Given the description of an element on the screen output the (x, y) to click on. 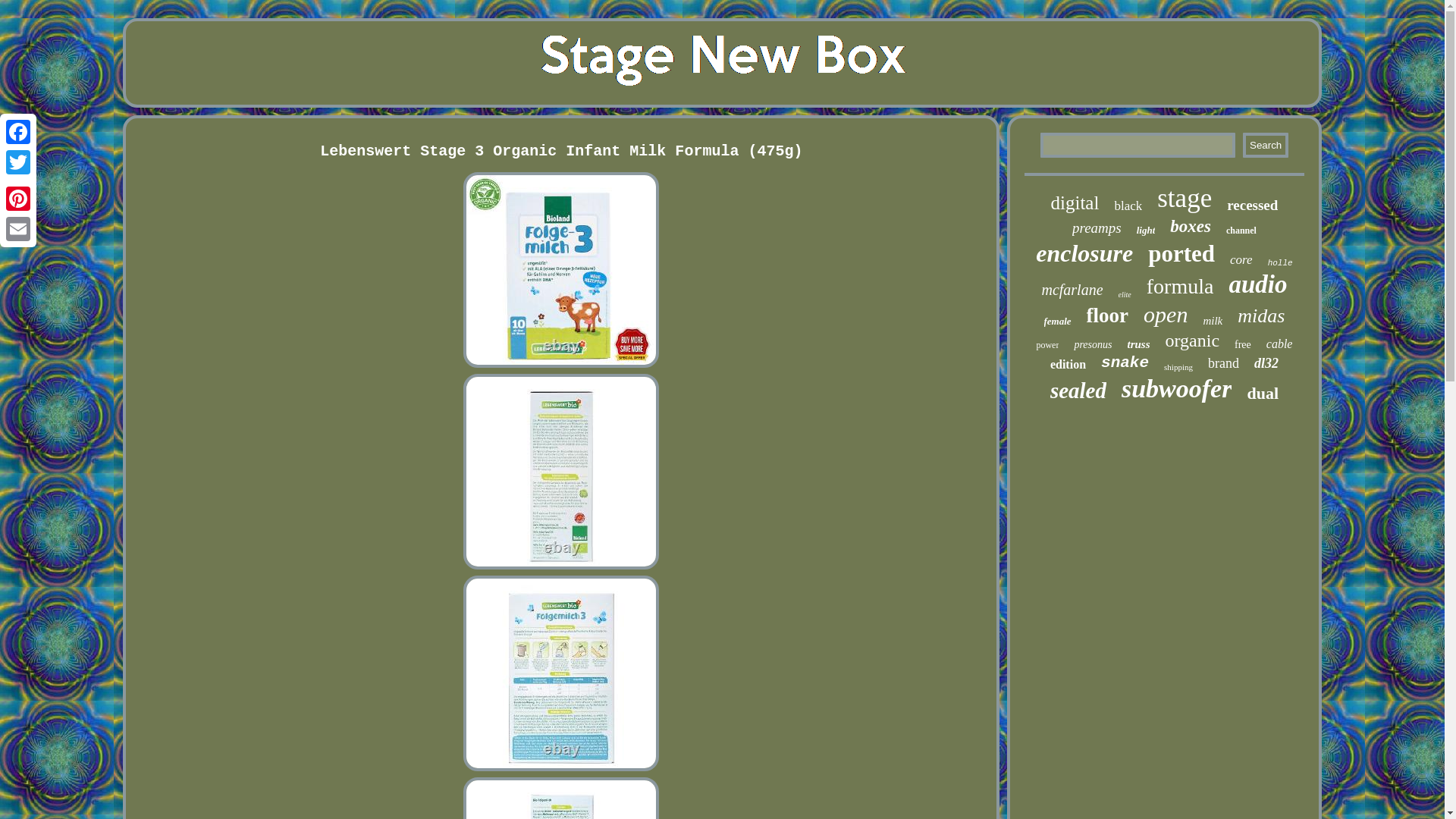
Search (1265, 145)
enclosure (1083, 253)
black (1127, 206)
digital (1075, 202)
channel (1240, 230)
female (1057, 321)
open (1165, 314)
mcfarlane (1071, 289)
boxes (1190, 226)
elite (1124, 294)
floor (1107, 315)
audio (1257, 284)
Pinterest (17, 198)
Search (1265, 145)
Twitter (17, 162)
